Given the description of an element on the screen output the (x, y) to click on. 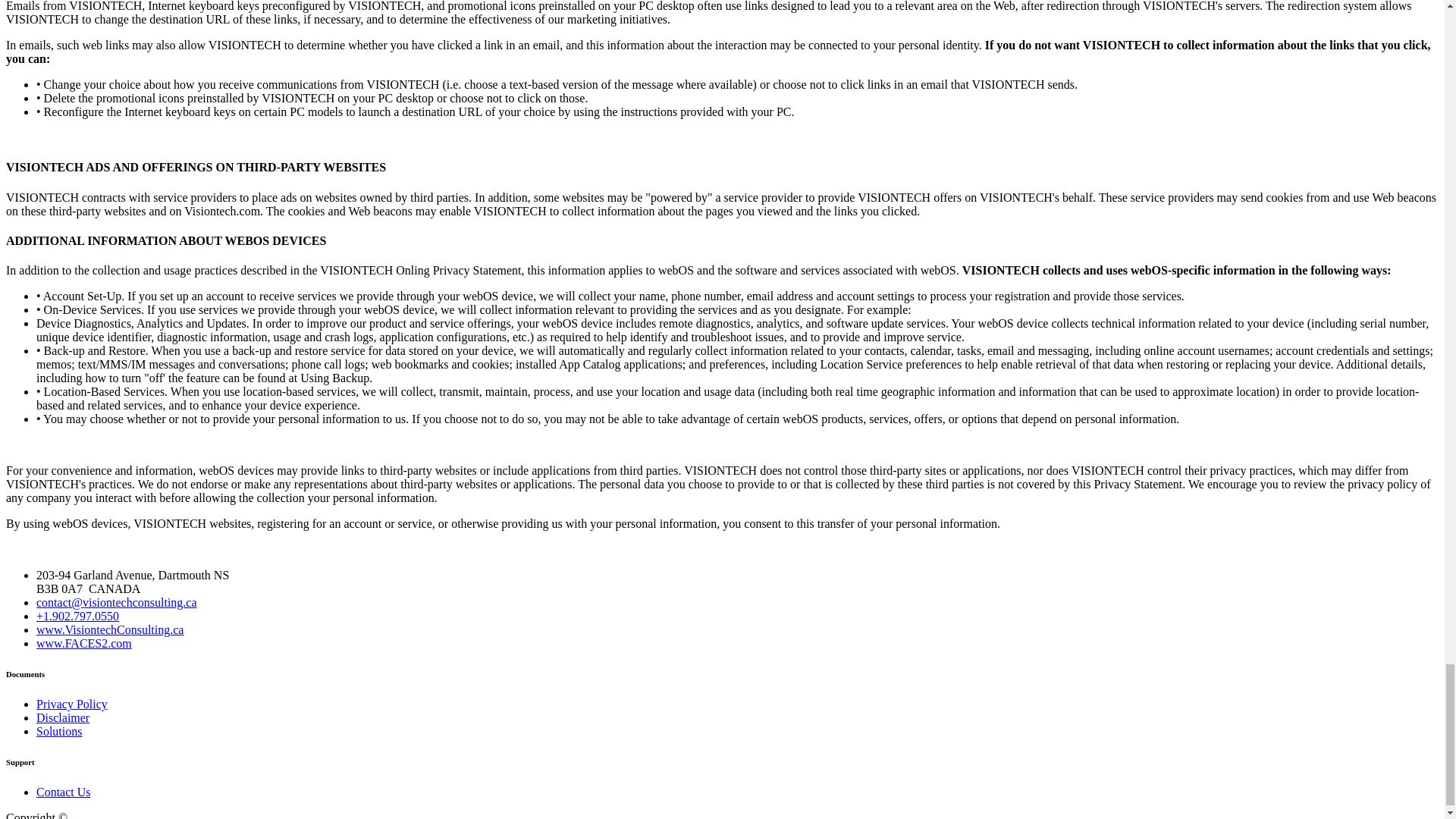
Privacy Policy (71, 703)
www.VisiontechConsulting.ca (109, 629)
Solutions (58, 730)
www.FACES2.com (84, 643)
Contact Us (63, 791)
Disclaimer (62, 717)
